Given the description of an element on the screen output the (x, y) to click on. 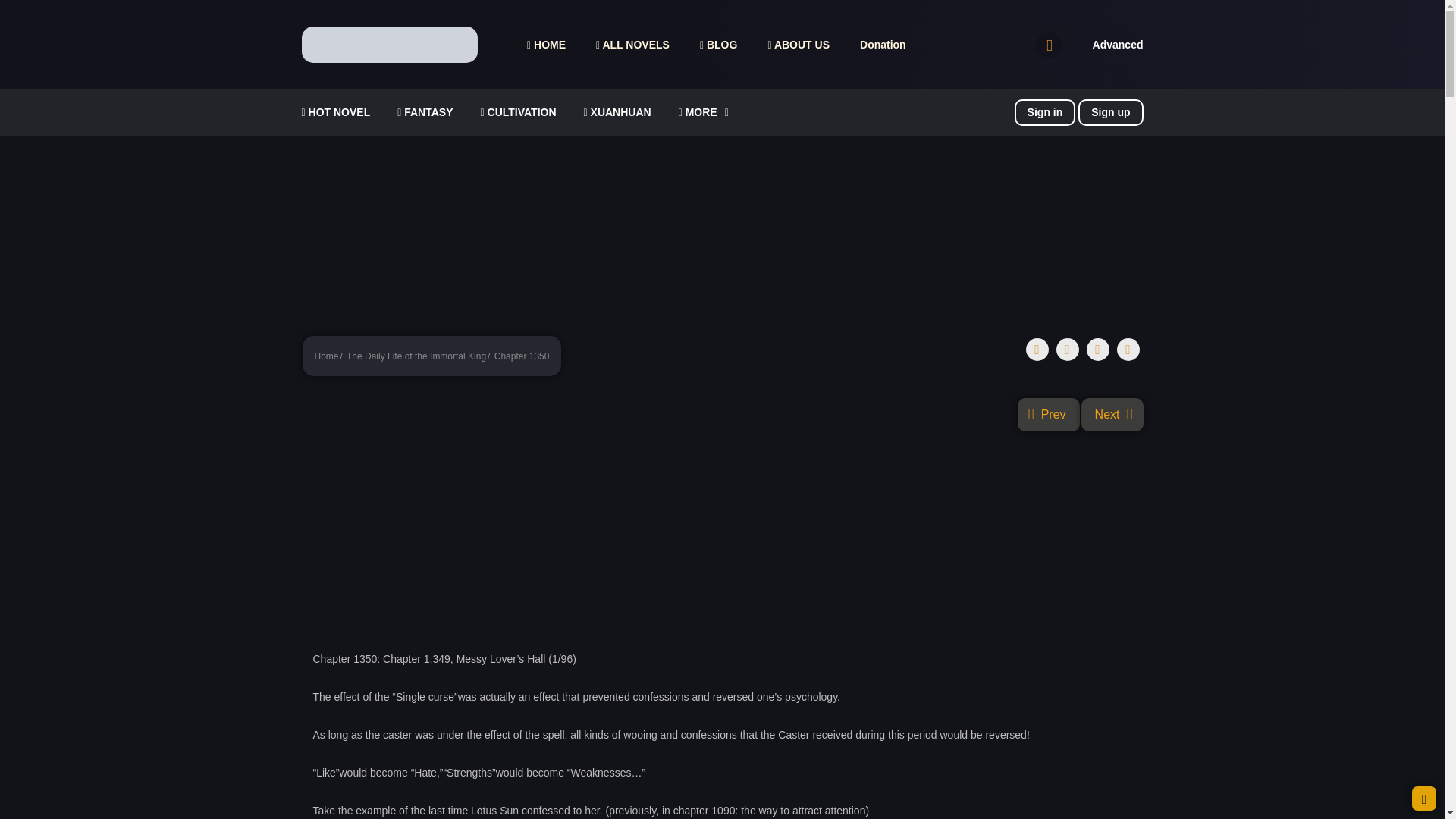
Donation (882, 45)
FANTASY (425, 112)
ALL NOVELS (632, 45)
Advertisement (721, 229)
Sign in (1044, 112)
Search (970, 9)
Sign up (1110, 112)
ABOUT US (798, 45)
XUANHUAN (617, 112)
Advanced (1117, 44)
